Given the description of an element on the screen output the (x, y) to click on. 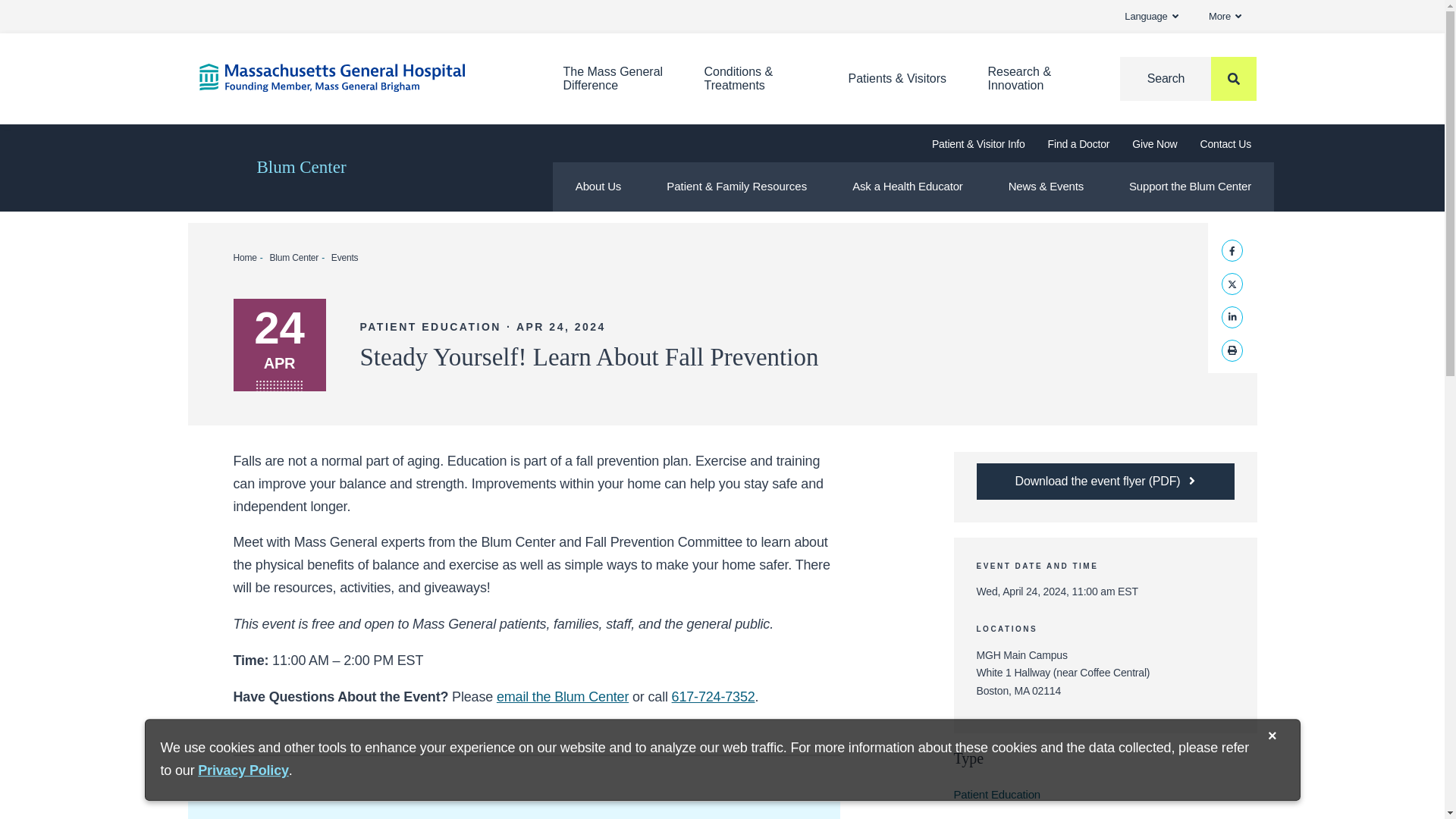
Language (1151, 16)
Home (612, 78)
More (357, 77)
